Given the description of an element on the screen output the (x, y) to click on. 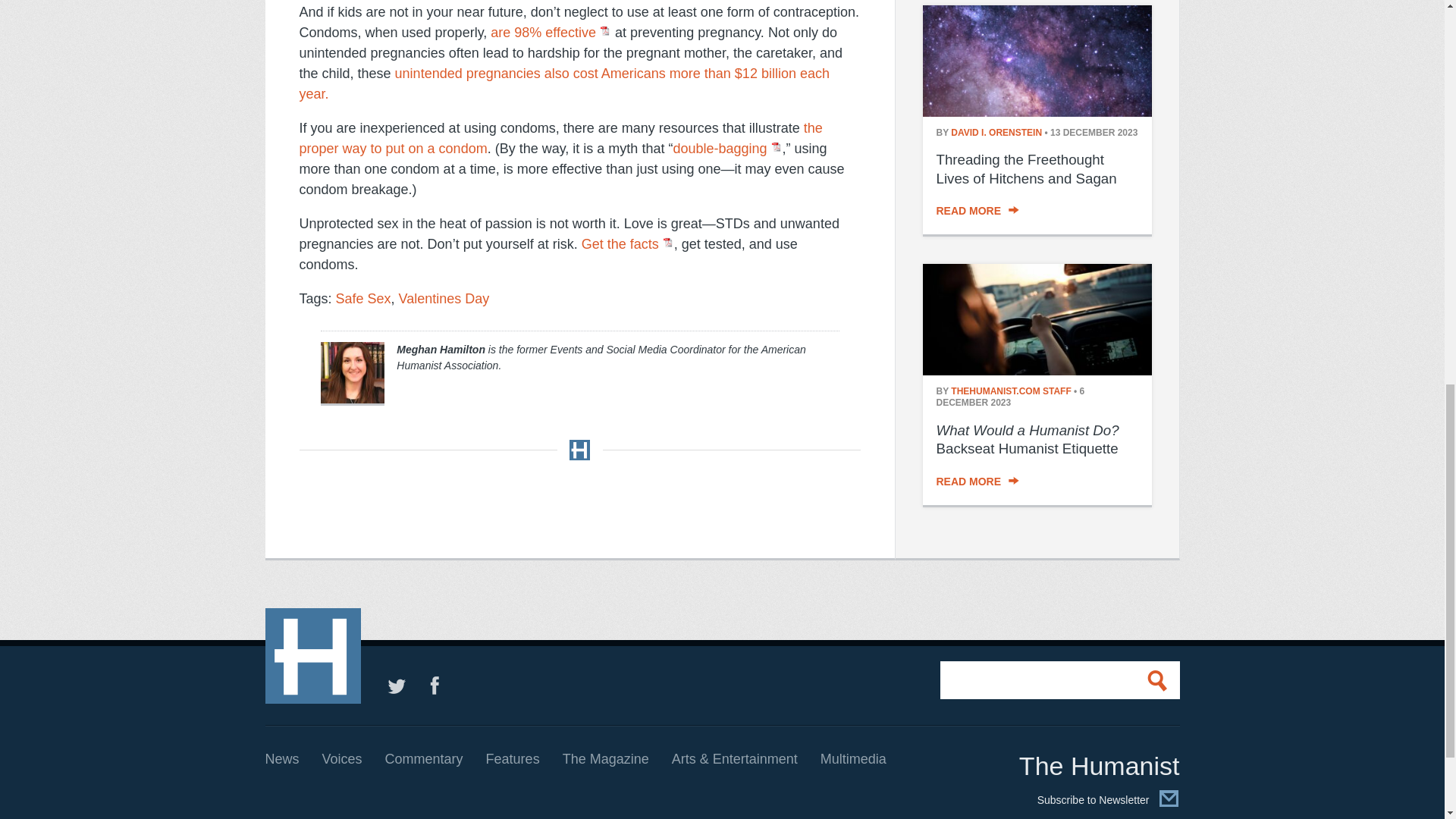
Search (1160, 679)
Search (1160, 679)
Threading the Freethought Lives of Hitchens and Sagan (1036, 111)
Threading the Freethought Lives of Hitchens and Sagan (1026, 168)
